Given the description of an element on the screen output the (x, y) to click on. 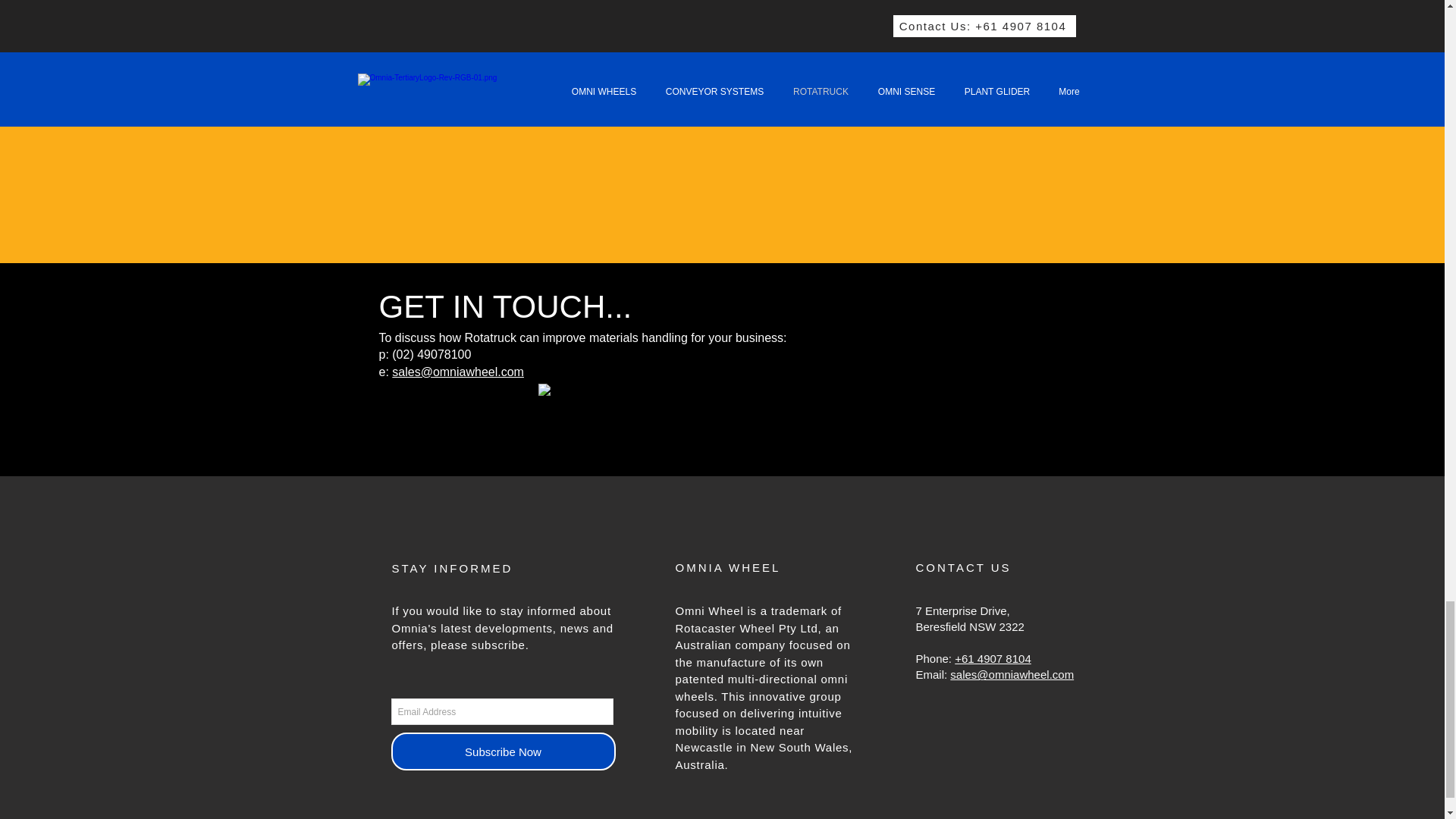
Subscribe Now (503, 751)
Email: (932, 674)
